Given the description of an element on the screen output the (x, y) to click on. 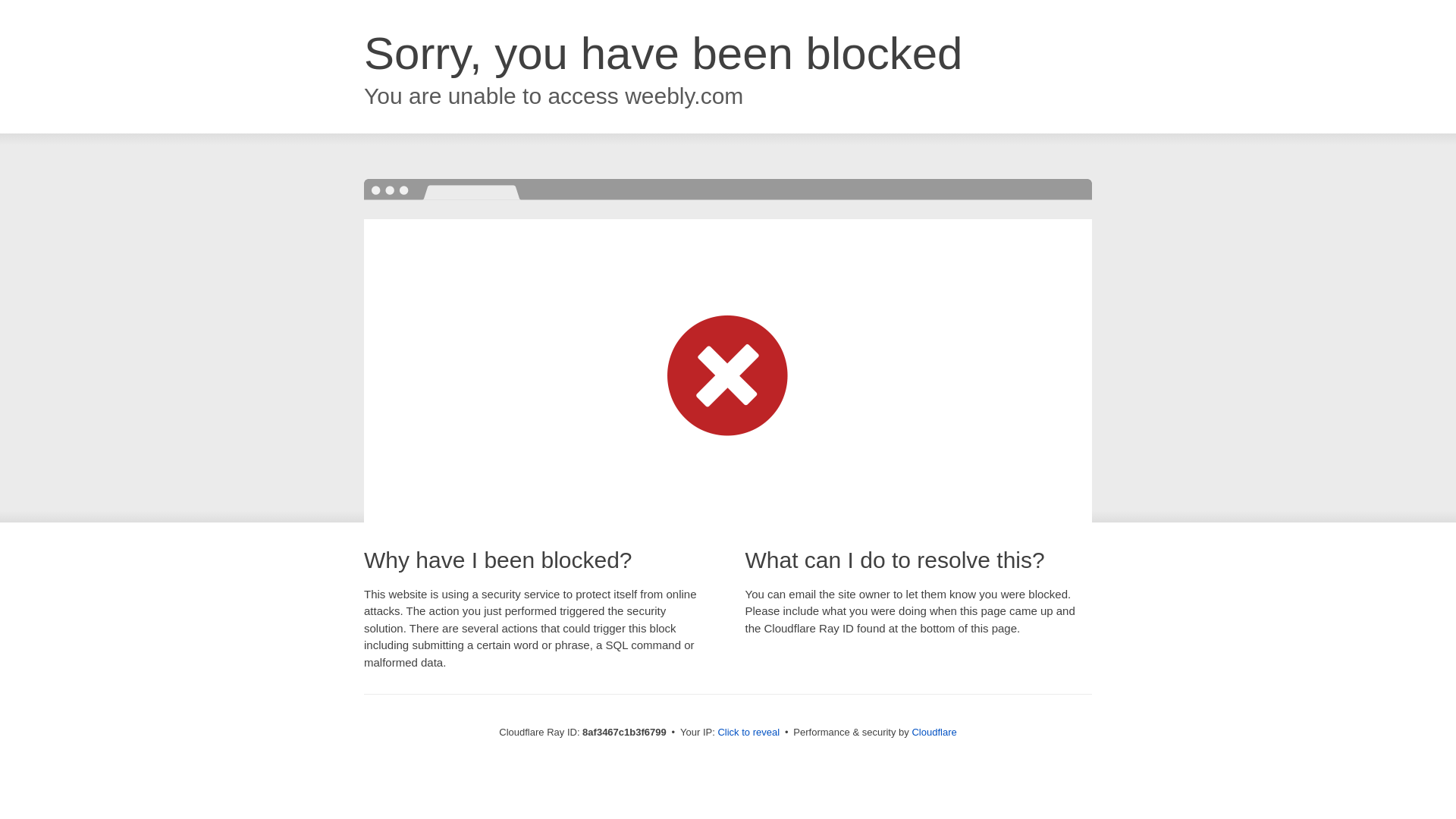
Cloudflare (933, 731)
Click to reveal (747, 732)
